Given the description of an element on the screen output the (x, y) to click on. 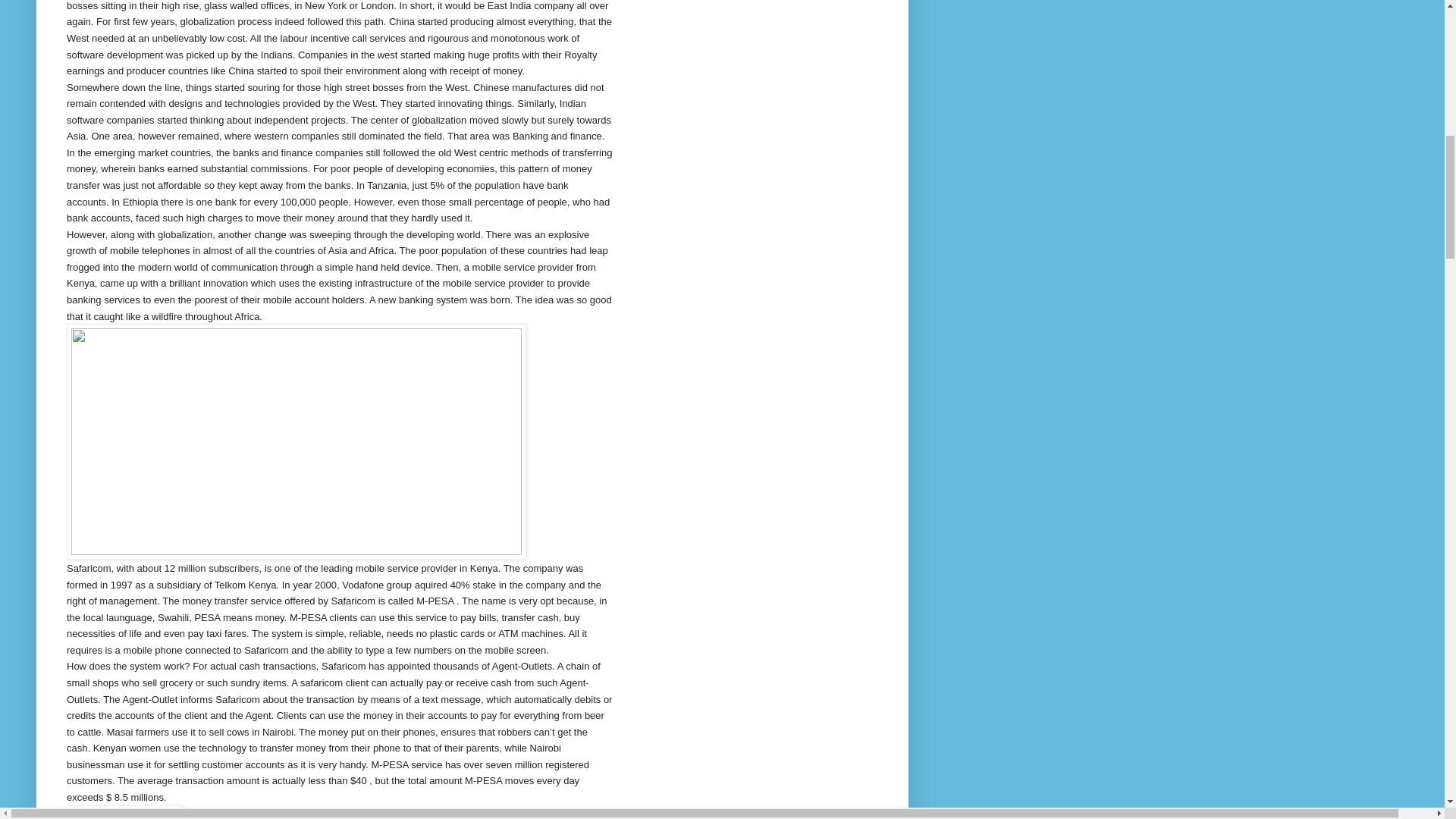
safaricom (124, 812)
M-pesa (295, 441)
